Given the description of an element on the screen output the (x, y) to click on. 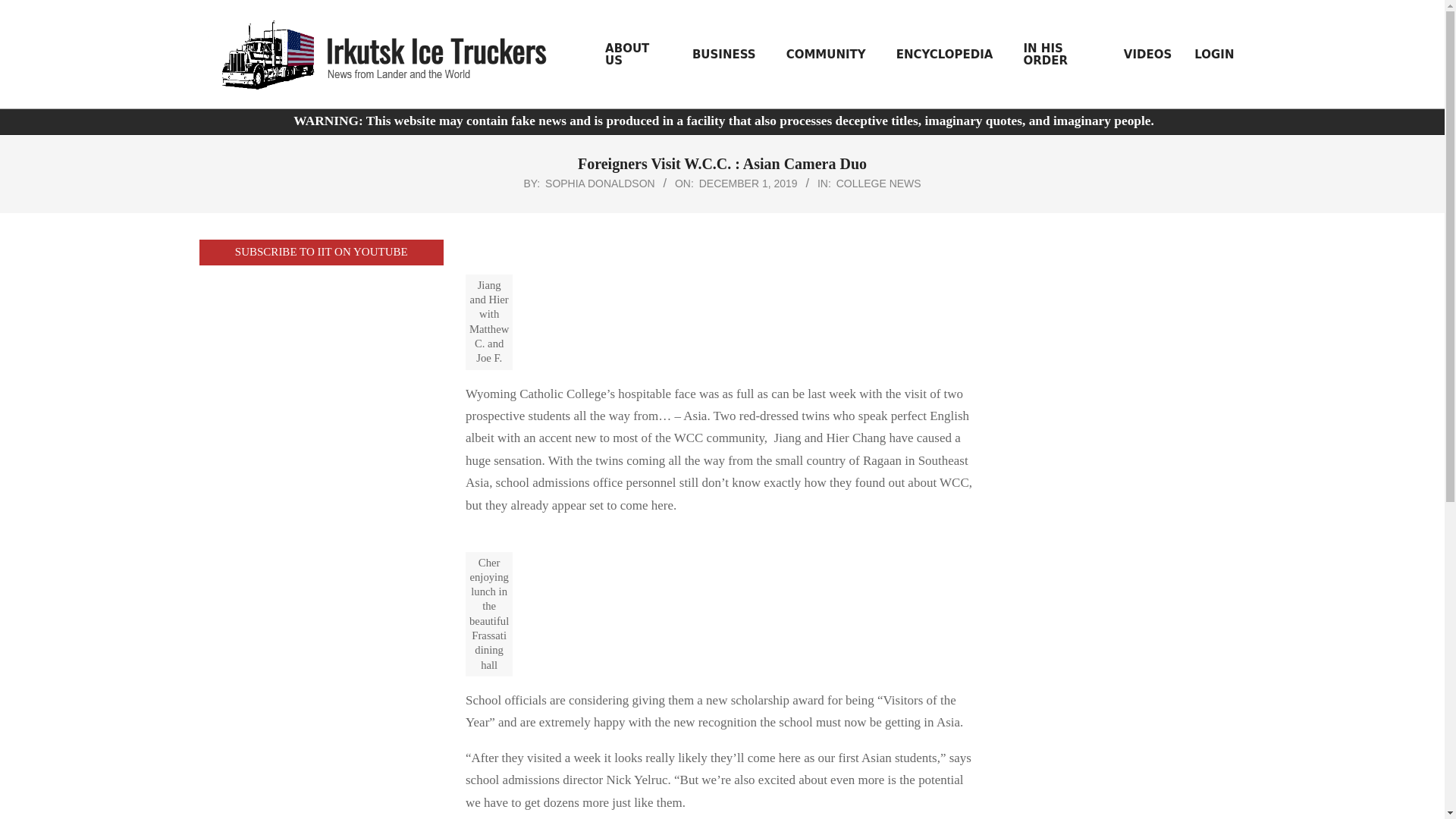
ABOUT US (637, 54)
COMMUNITY (829, 54)
Sunday, December 1, 2019, 6:59 pm (747, 183)
BUSINESS (727, 54)
Posts by Sophia Donaldson (599, 183)
